Given the description of an element on the screen output the (x, y) to click on. 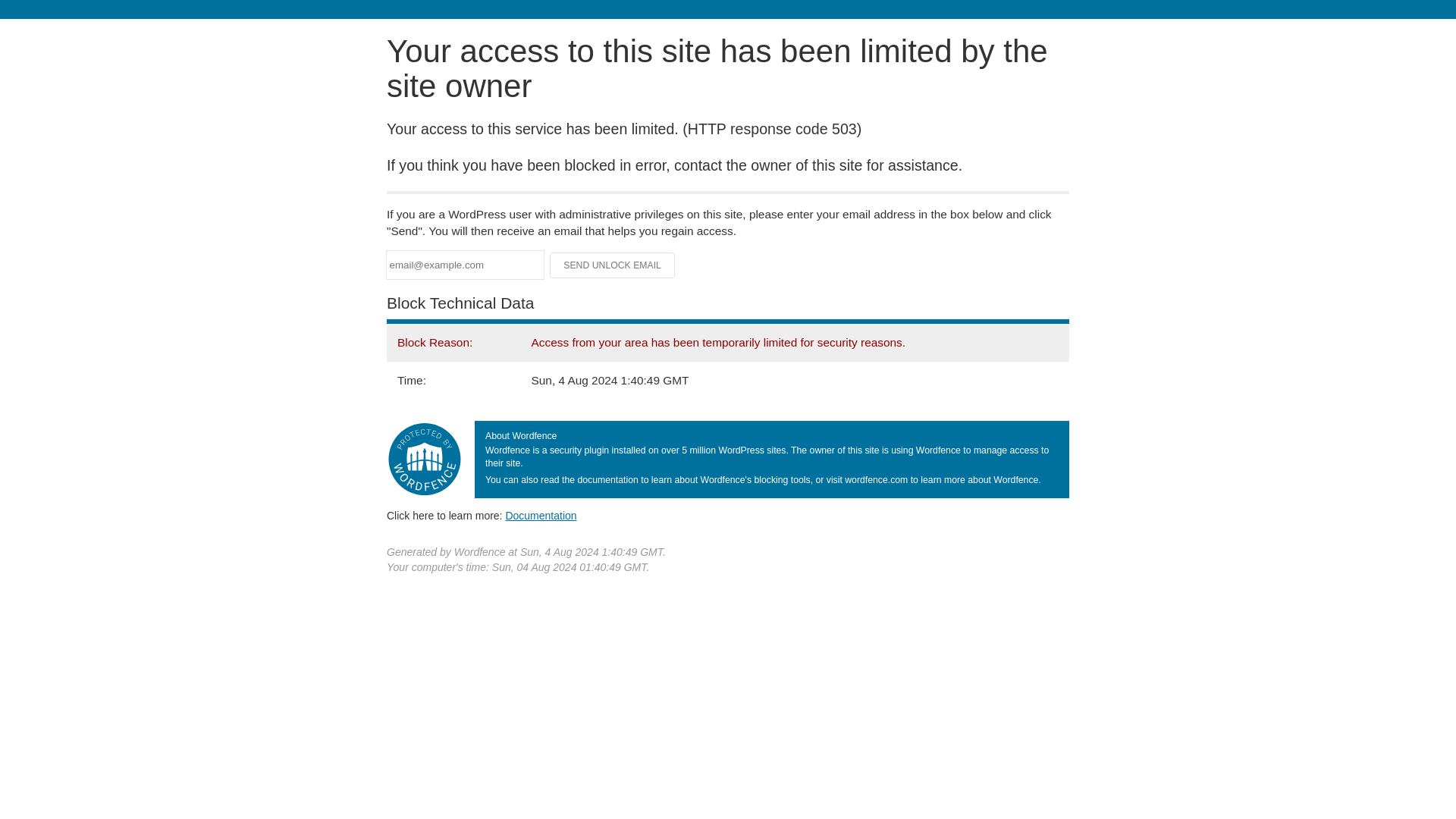
Send Unlock Email (612, 265)
Documentation (540, 515)
Send Unlock Email (612, 265)
